Given the description of an element on the screen output the (x, y) to click on. 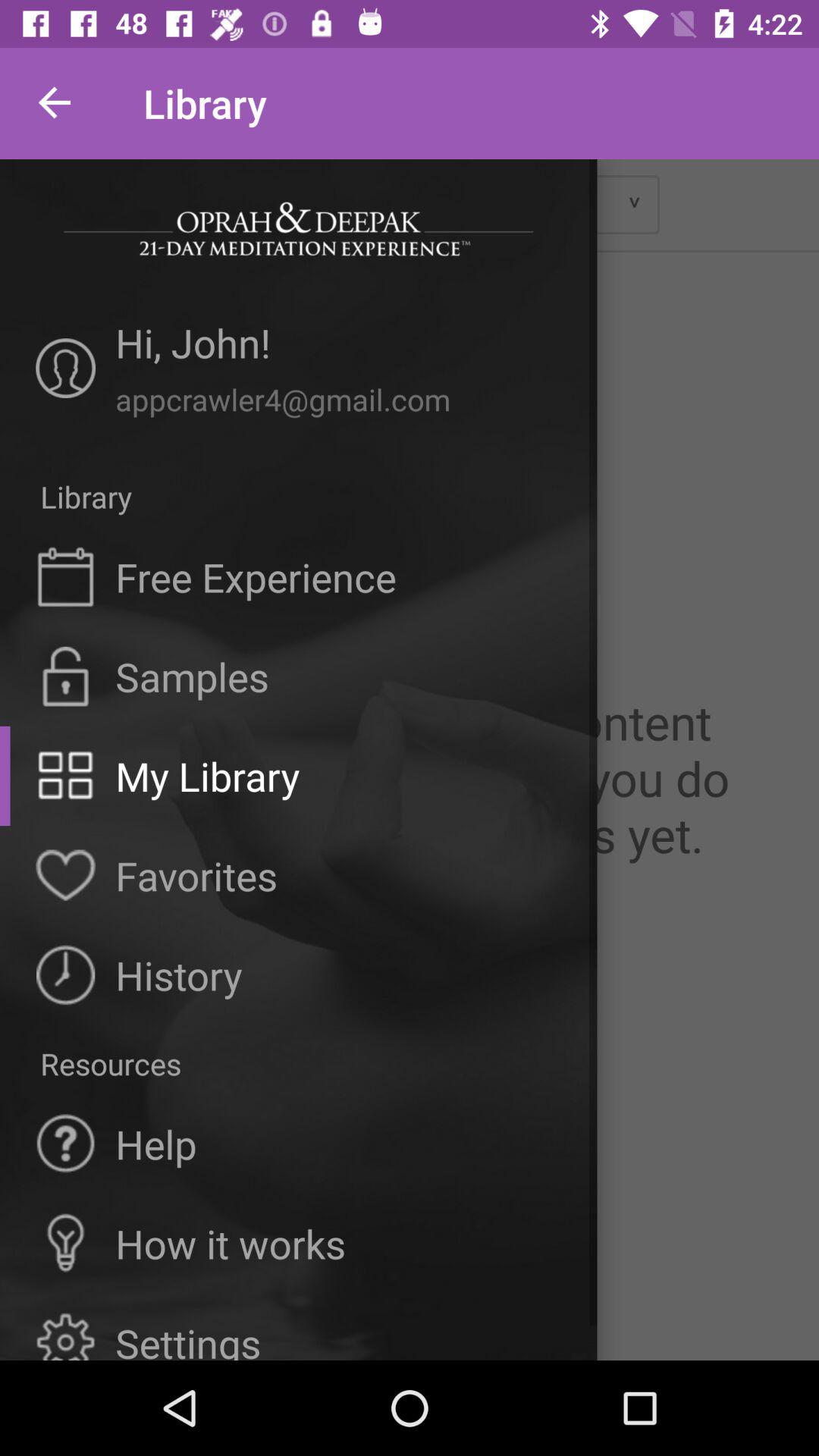
turn on the item above samples icon (255, 576)
